Given the description of an element on the screen output the (x, y) to click on. 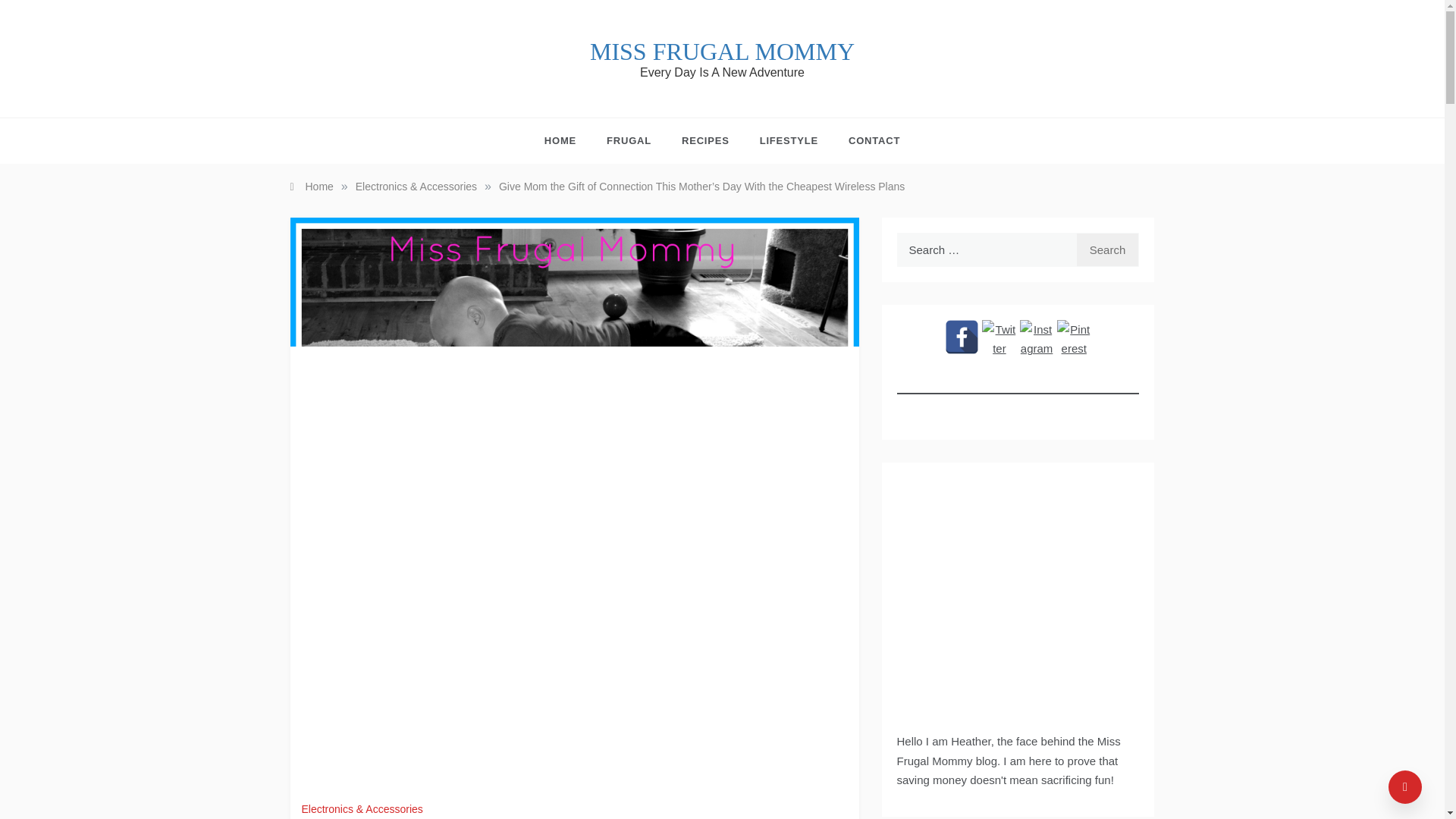
Twitter (998, 336)
LIFESTYLE (788, 140)
FRUGAL (628, 140)
HOME (567, 140)
Go to Top (1405, 786)
Instagram (1037, 336)
CONTACT (865, 140)
RECIPES (705, 140)
MISS FRUGAL MOMMY (721, 51)
Search (1107, 249)
